Given the description of an element on the screen output the (x, y) to click on. 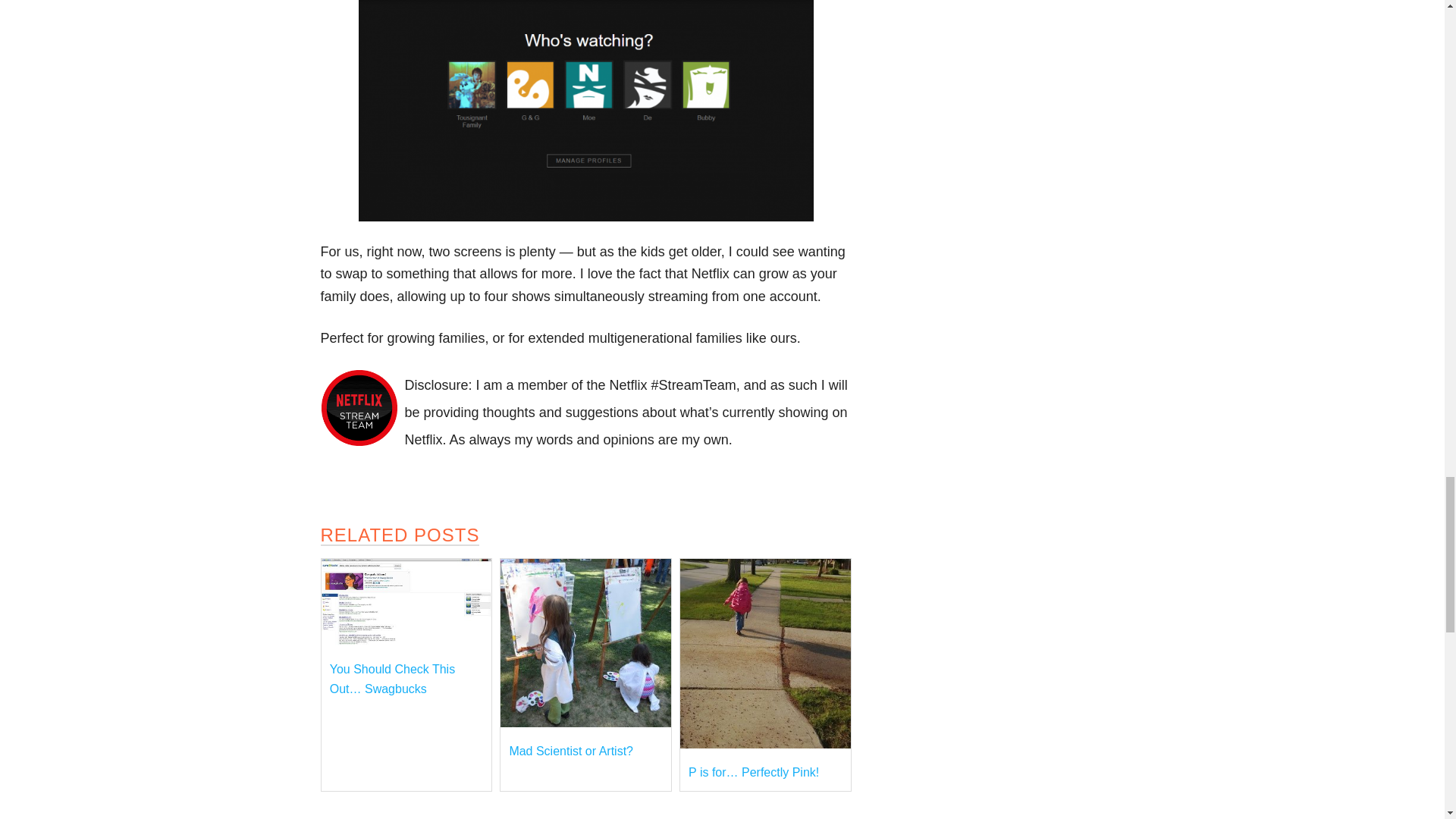
Permanent Link to Mad Scientist or Artist? (585, 722)
Mad Scientist or Artist? (570, 750)
Permanent Link to Mad Scientist or Artist? (570, 750)
